Given the description of an element on the screen output the (x, y) to click on. 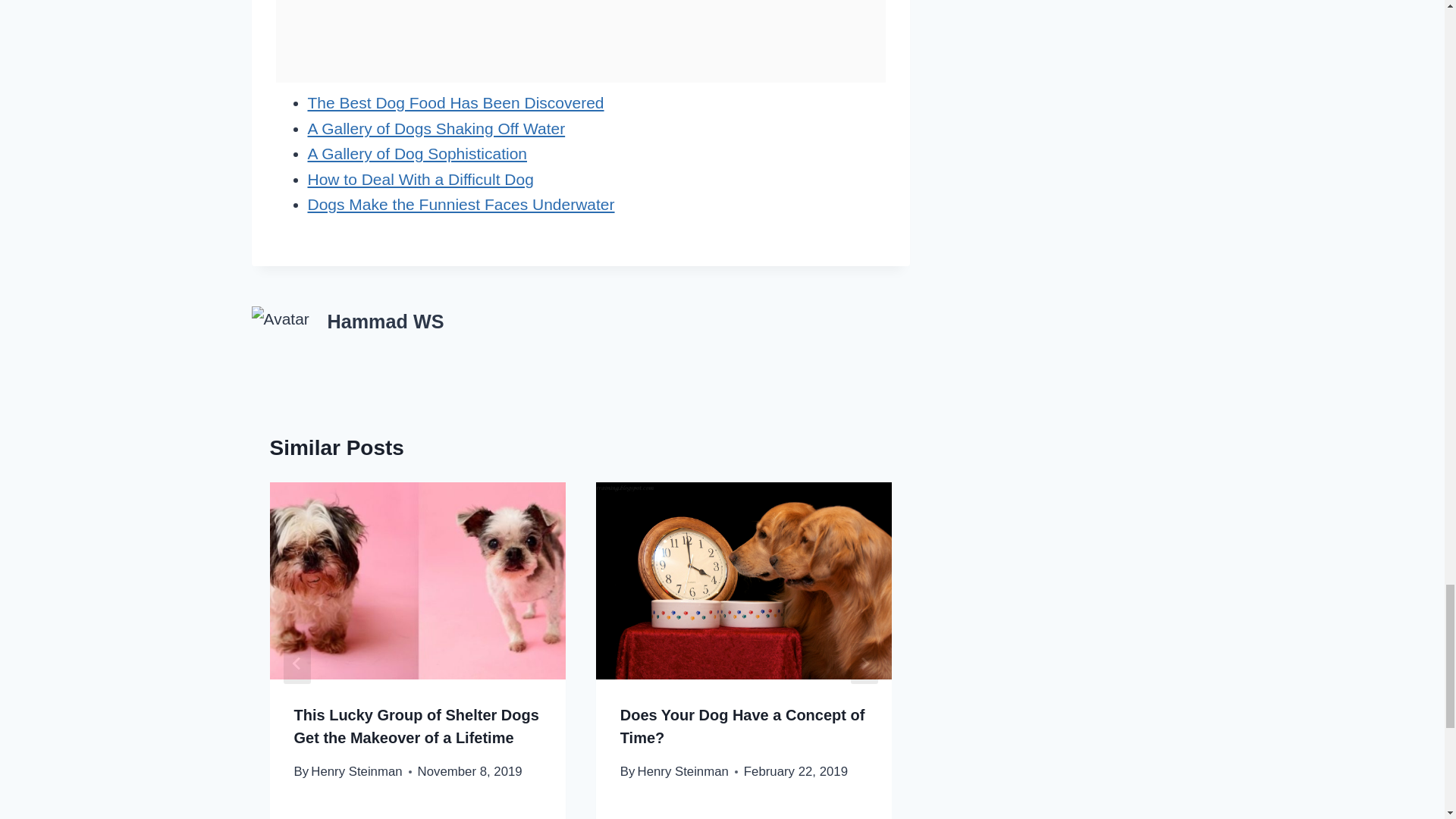
Henry Steinman (683, 771)
Does Your Dog Have a Concept of Time? (742, 726)
Dogs Make the Funniest Faces Underwater (460, 203)
A Gallery of Dogs Shaking Off Water (436, 128)
Henry Steinman (356, 771)
The Best Dog Food Has Been Discovered (455, 102)
Hammad WS (385, 321)
Posts by Hammad WS (385, 321)
A Gallery of Dog Sophistication (417, 153)
